Given the description of an element on the screen output the (x, y) to click on. 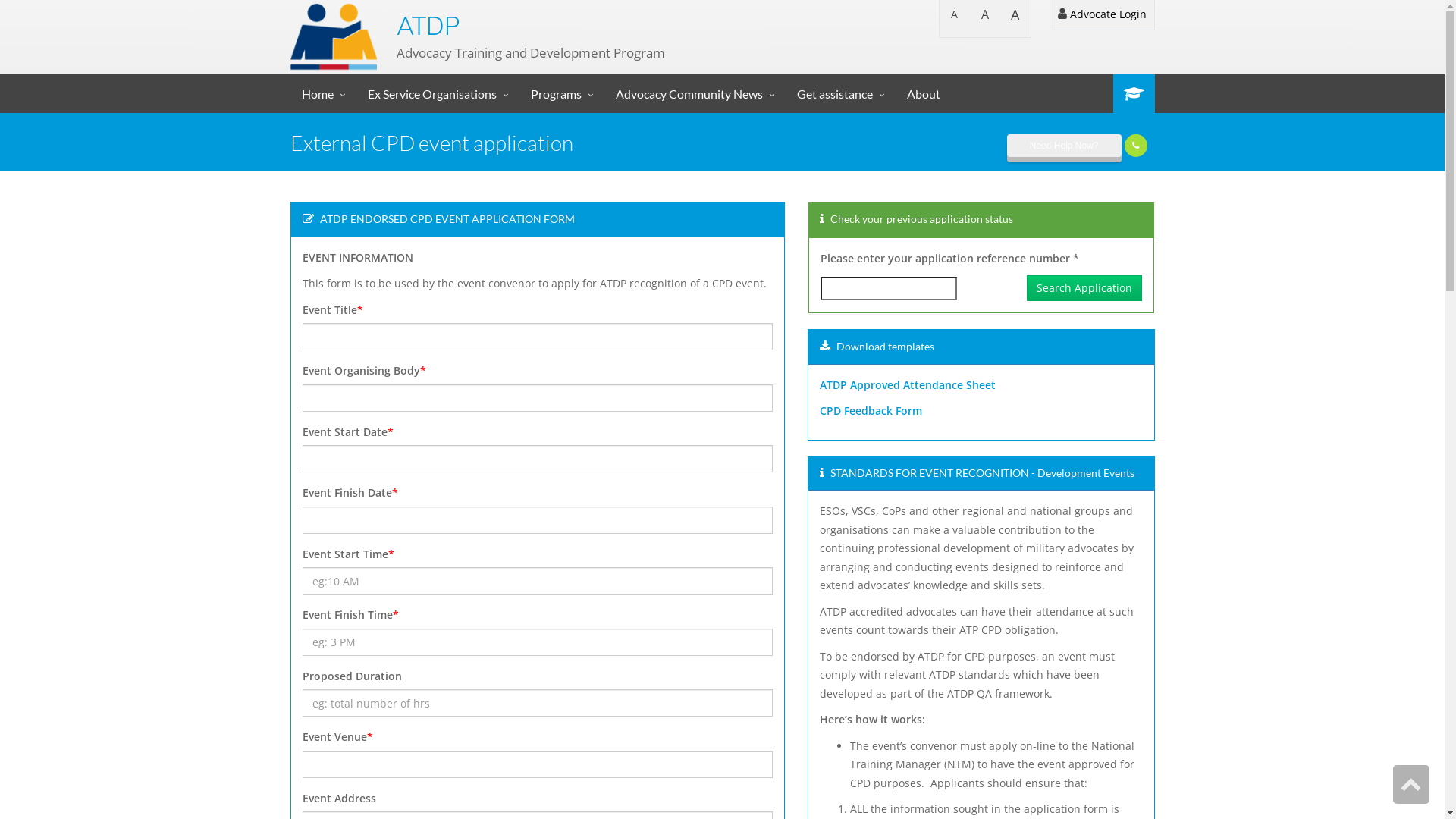
A Element type: text (984, 18)
ATDP Approved Attendance Sheet Element type: text (907, 384)
Ex Service Organisations Element type: text (437, 93)
Search Application Element type: text (1084, 288)
CPD Feedback Form Element type: text (870, 410)
A Element type: text (953, 18)
Get assistance Element type: text (840, 93)
Need Help Now? Element type: text (1064, 145)
About Element type: text (922, 93)
Advocacy Community News Element type: text (693, 93)
Home Element type: text (322, 93)
ATDP Element type: text (427, 25)
Advocate Login Element type: text (1101, 15)
Programs Element type: text (560, 93)
A Element type: text (1014, 18)
